Given the description of an element on the screen output the (x, y) to click on. 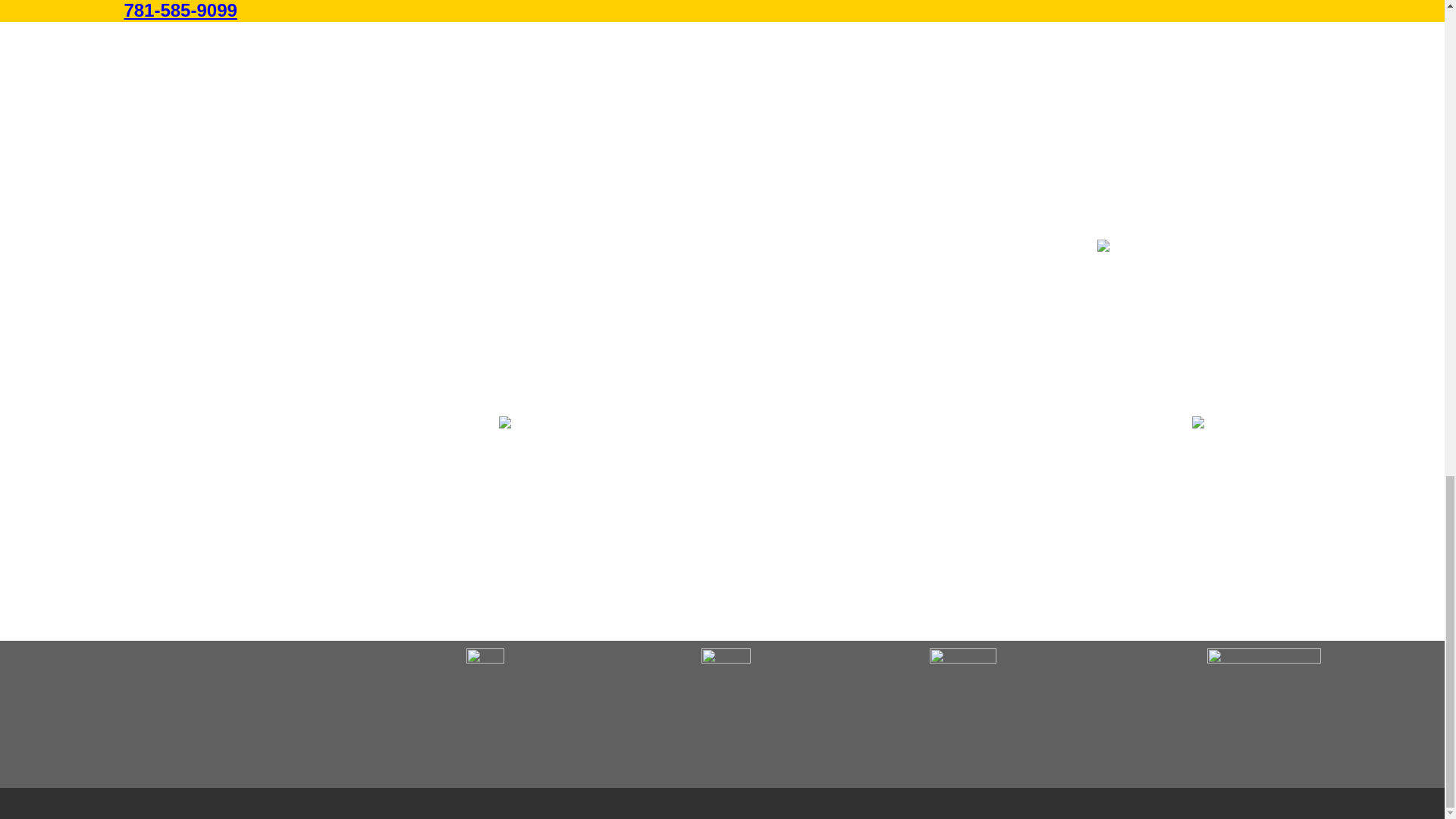
Plymouth County Paving Facebook (481, 670)
Google Reviews (721, 673)
